Given the description of an element on the screen output the (x, y) to click on. 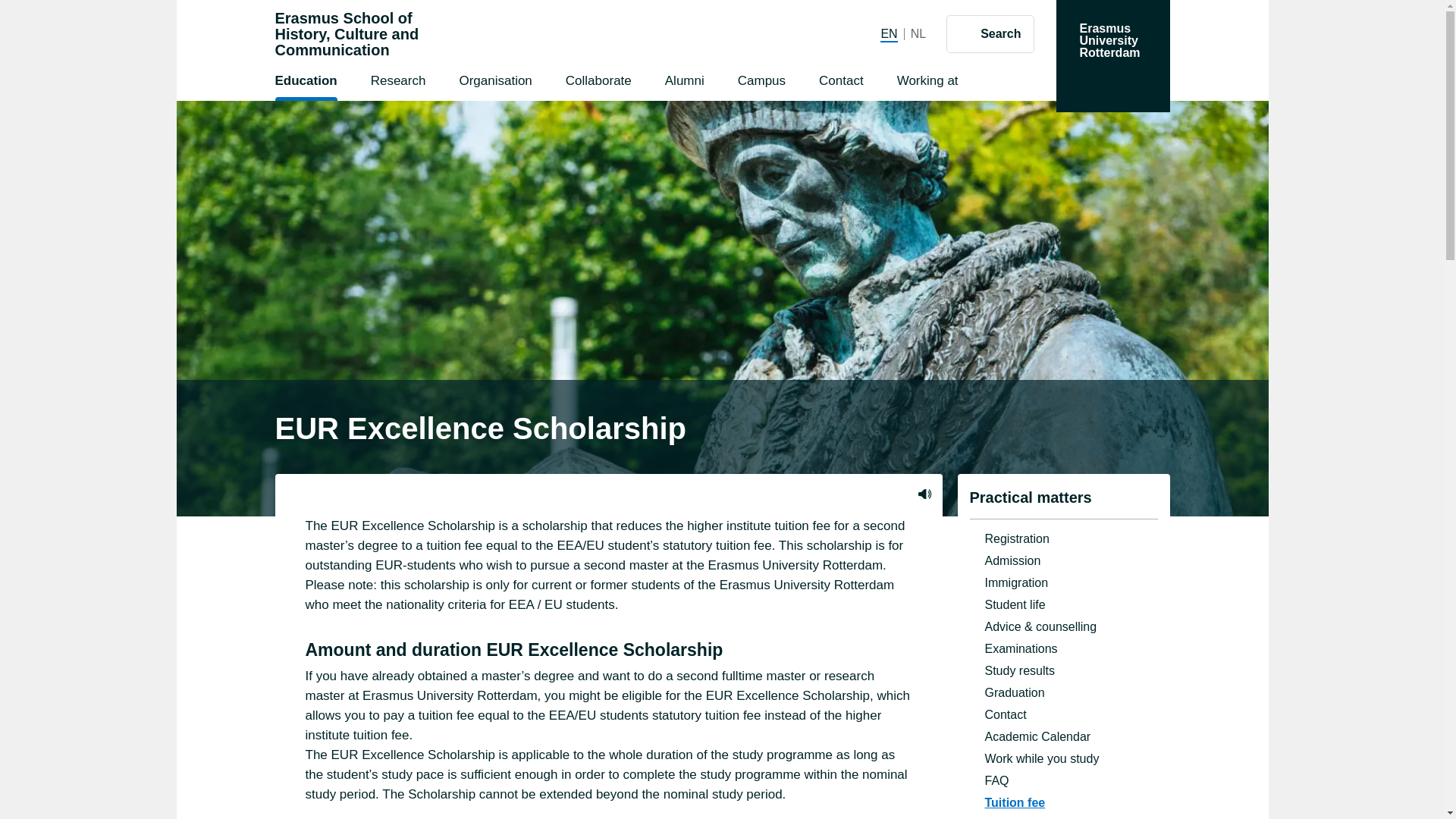
Collaborate (598, 82)
Research (398, 82)
Working at (927, 82)
Listen to this page using ReadSpeaker (347, 34)
Search (923, 493)
Campus (989, 33)
Contact (918, 33)
Alumni (762, 82)
Education (840, 82)
Organisation (684, 82)
